Given the description of an element on the screen output the (x, y) to click on. 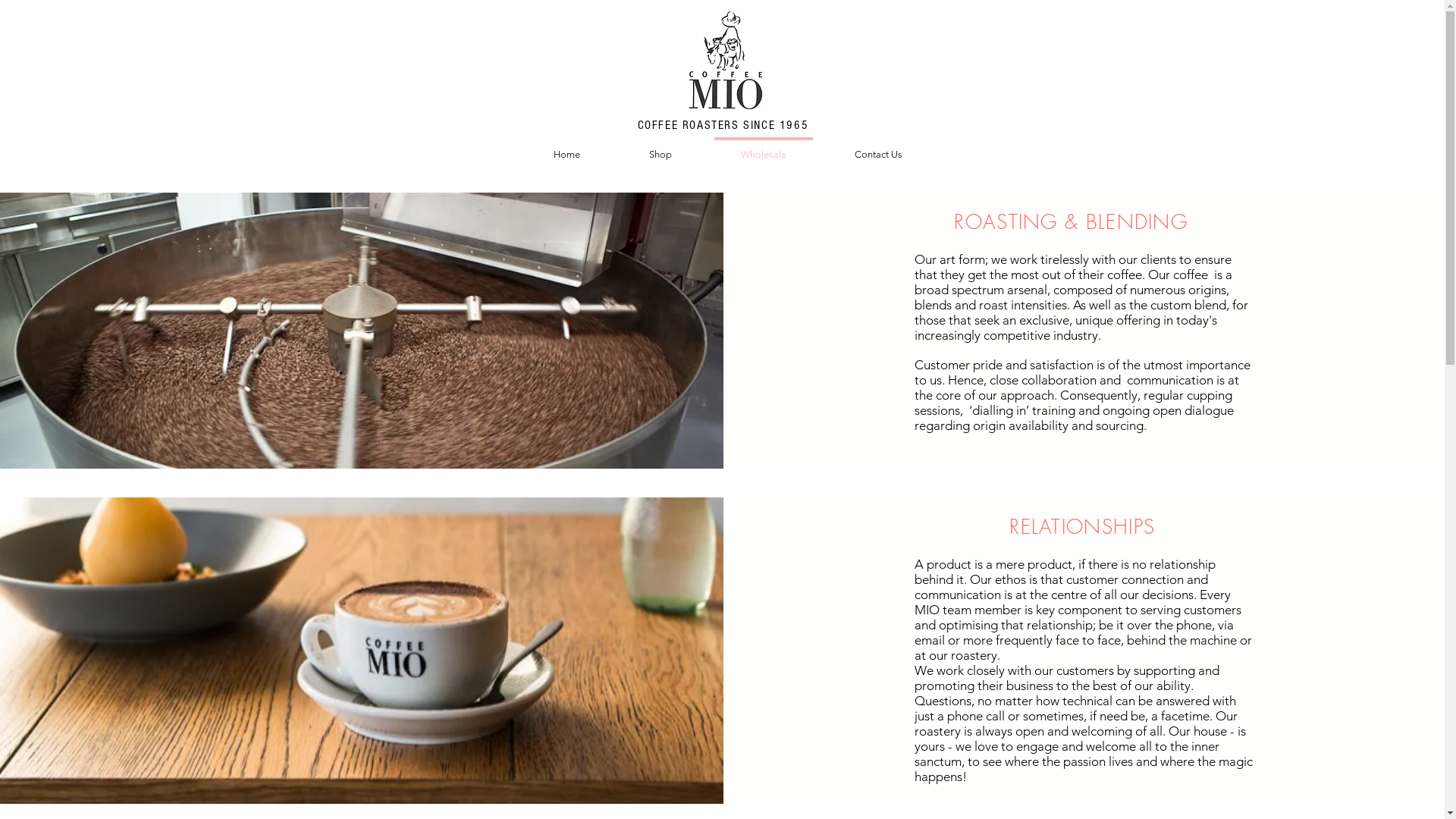
Wholesale Element type: text (763, 147)
PHIN-CAF_Logo_Words&Image.png Element type: hover (724, 57)
Shop Element type: text (660, 147)
Home Element type: text (566, 147)
Contact Us Element type: text (878, 147)
